Given the description of an element on the screen output the (x, y) to click on. 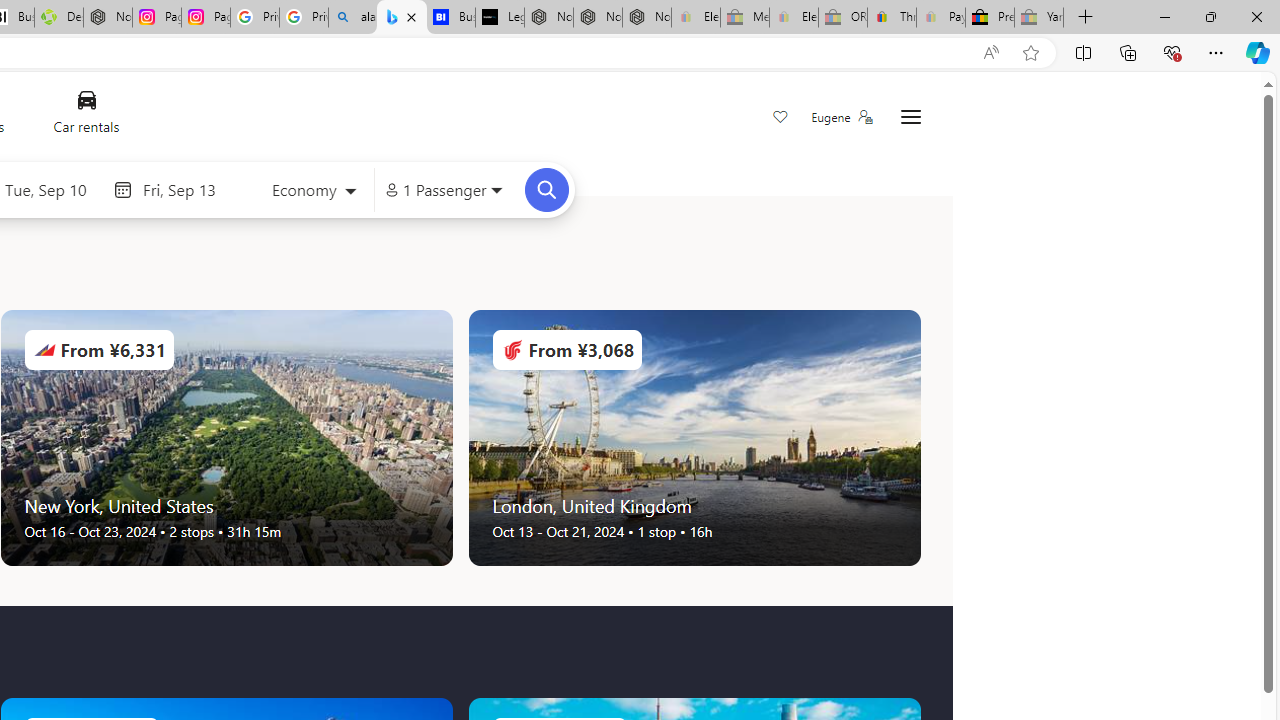
Save (780, 118)
Yard, Garden & Outdoor Living - Sleeping (1039, 17)
Descarga Driver Updater (58, 17)
Airlines Logo (512, 349)
Car rentals (85, 116)
Save (780, 118)
